Given the description of an element on the screen output the (x, y) to click on. 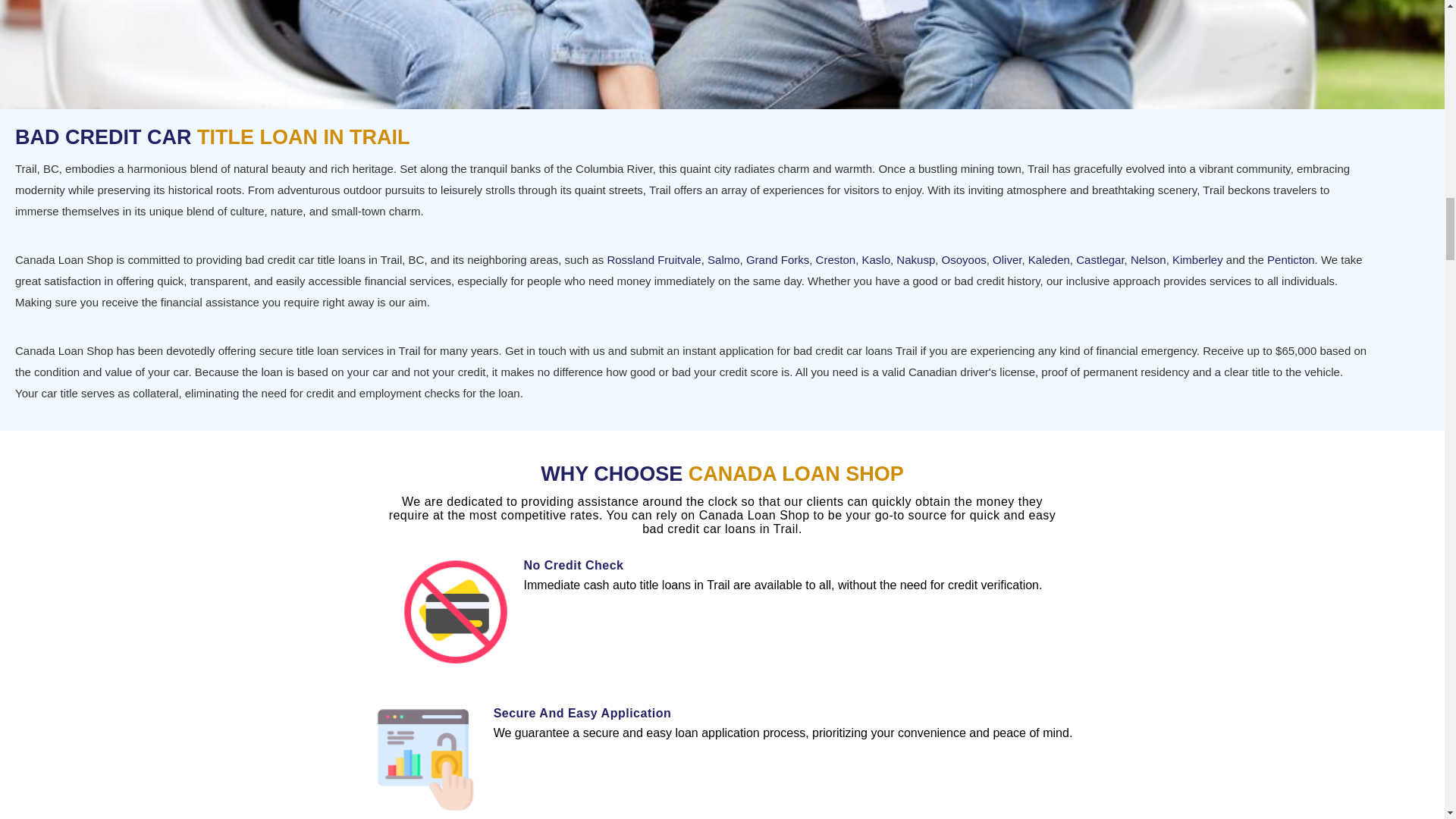
Kimberley (1197, 259)
Nelson (1148, 259)
Castlegar (1099, 259)
Secure And Easy Application (582, 712)
Penticton (1290, 259)
No Credit Check (574, 564)
